Given the description of an element on the screen output the (x, y) to click on. 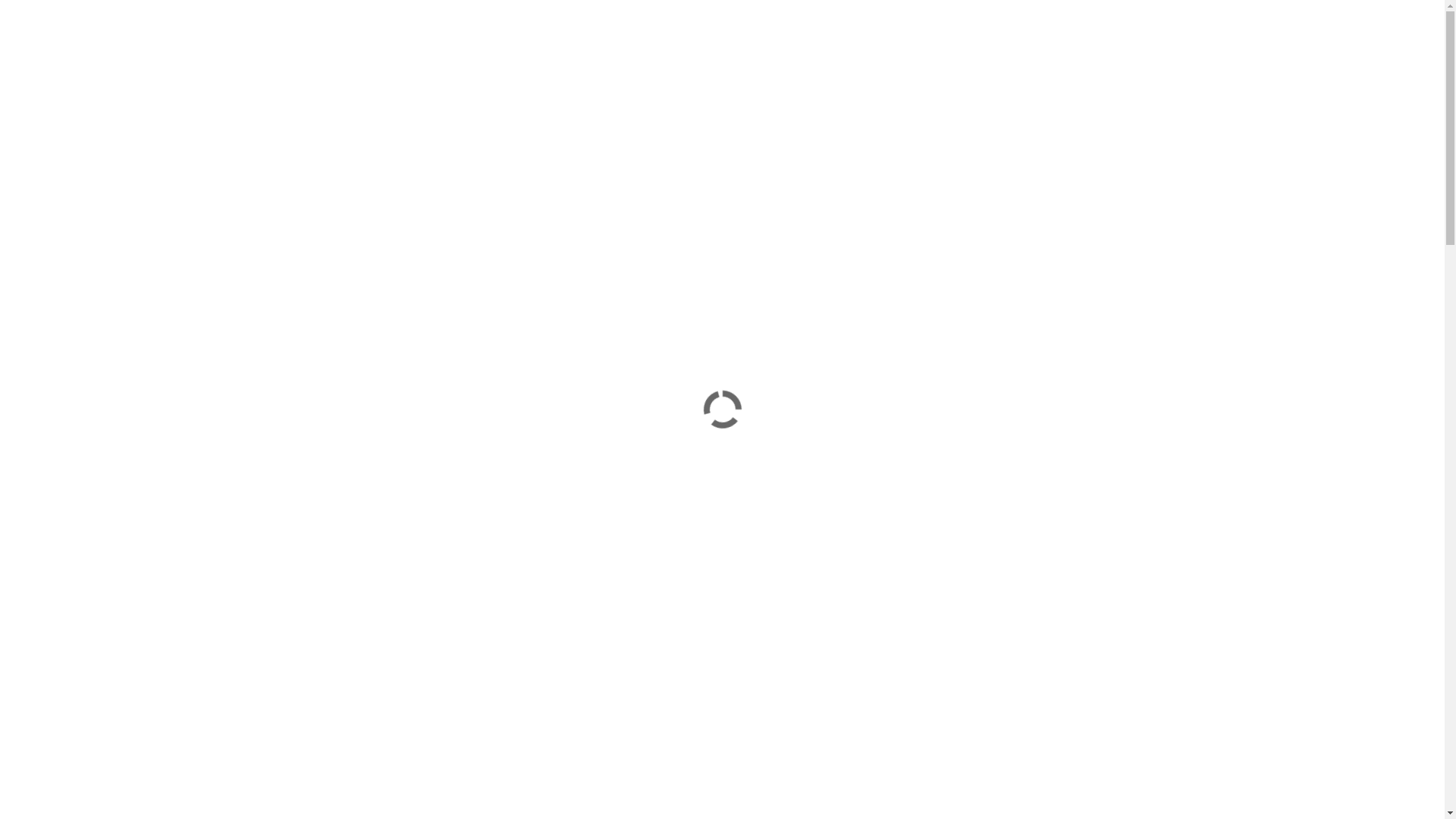
Login Element type: text (962, 308)
Home Element type: text (951, 100)
Quiz Element type: text (1172, 100)
25/09/2023 Element type: text (542, 693)
Password Reset Element type: text (991, 389)
100TWh studies Element type: text (555, 229)
08/11/2023 Element type: text (542, 445)
Legal Actions (members-only) Element type: text (1064, 100)
Communication to the public Element type: text (582, 765)
Register Element type: text (969, 335)
Logout Element type: text (966, 362)
Search Element type: text (1175, 142)
100TWh studies Element type: text (555, 516)
